Given the description of an element on the screen output the (x, y) to click on. 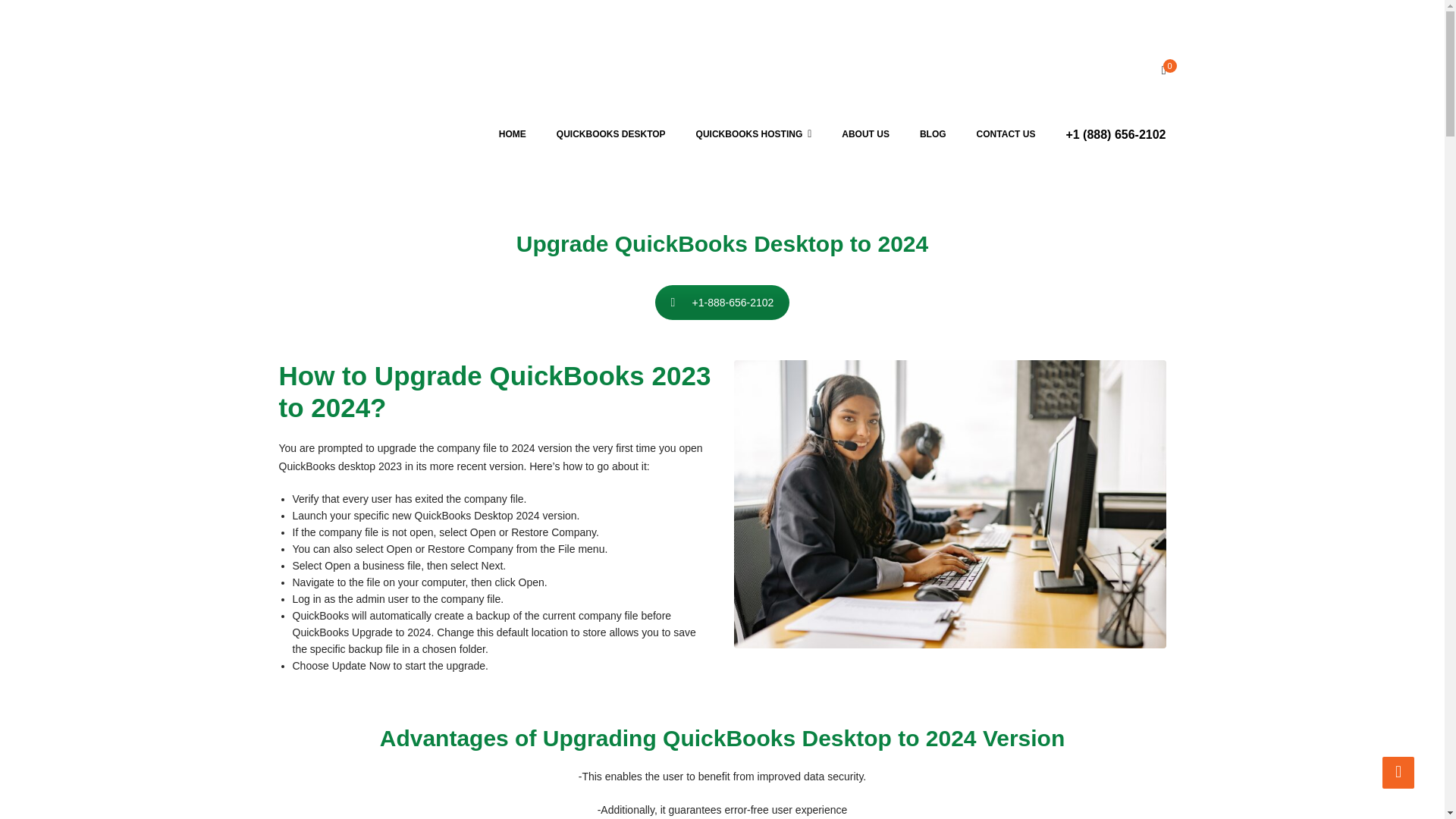
HOME (512, 134)
QuickBooks Upgrade (949, 504)
QUICKBOOKS DESKTOP (611, 134)
CONTACT US (1005, 134)
0 (1163, 70)
BLOG (932, 134)
ABOUT US (865, 134)
QUICKBOOKS HOSTING (754, 134)
